Given the description of an element on the screen output the (x, y) to click on. 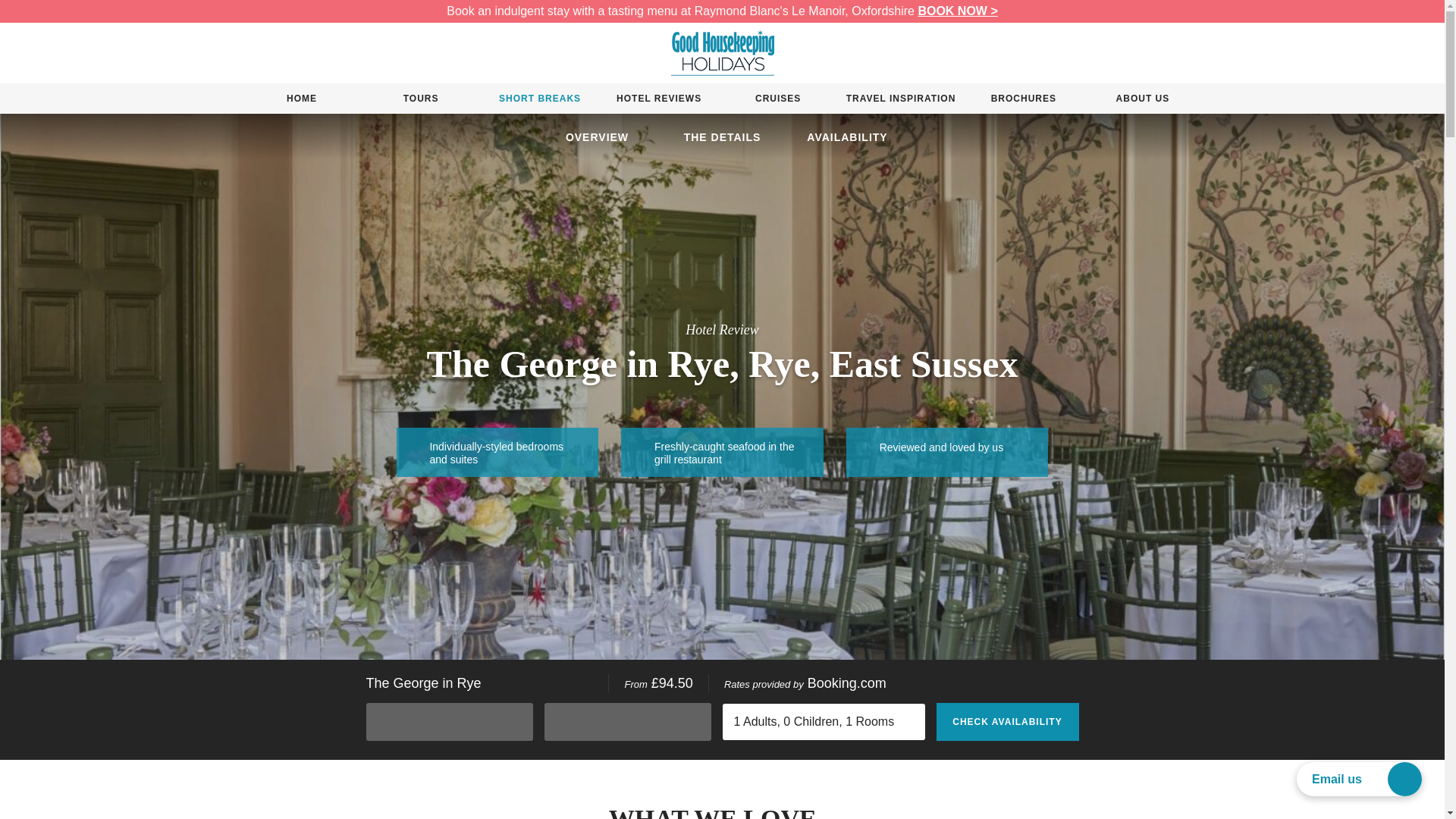
CRUISES (777, 98)
CHECK AVAILABILITY (1007, 721)
ABOUT US (1141, 98)
OVERVIEW (596, 137)
HOTEL REVIEWS (659, 98)
1 Adults, 0 Children, 1 Rooms (823, 721)
BROCHURES (1023, 98)
HOME (301, 98)
TOURS (420, 98)
TRAVEL INSPIRATION (900, 98)
